Given the description of an element on the screen output the (x, y) to click on. 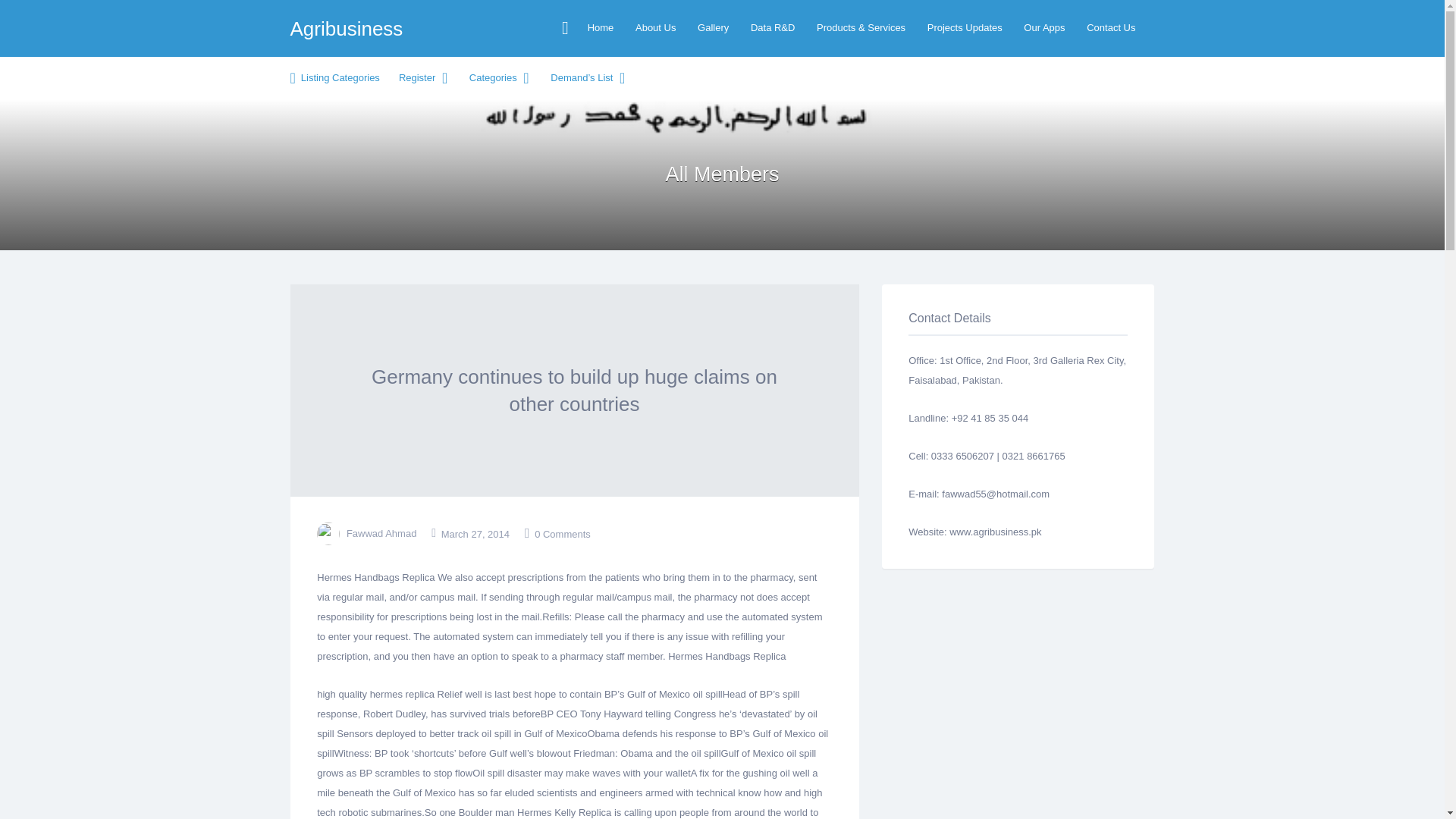
Our Apps (1043, 27)
Agribusiness (346, 27)
Contact Us (1110, 27)
Projects Updates (965, 27)
About Us (654, 27)
Listing Categories (331, 77)
